Given the description of an element on the screen output the (x, y) to click on. 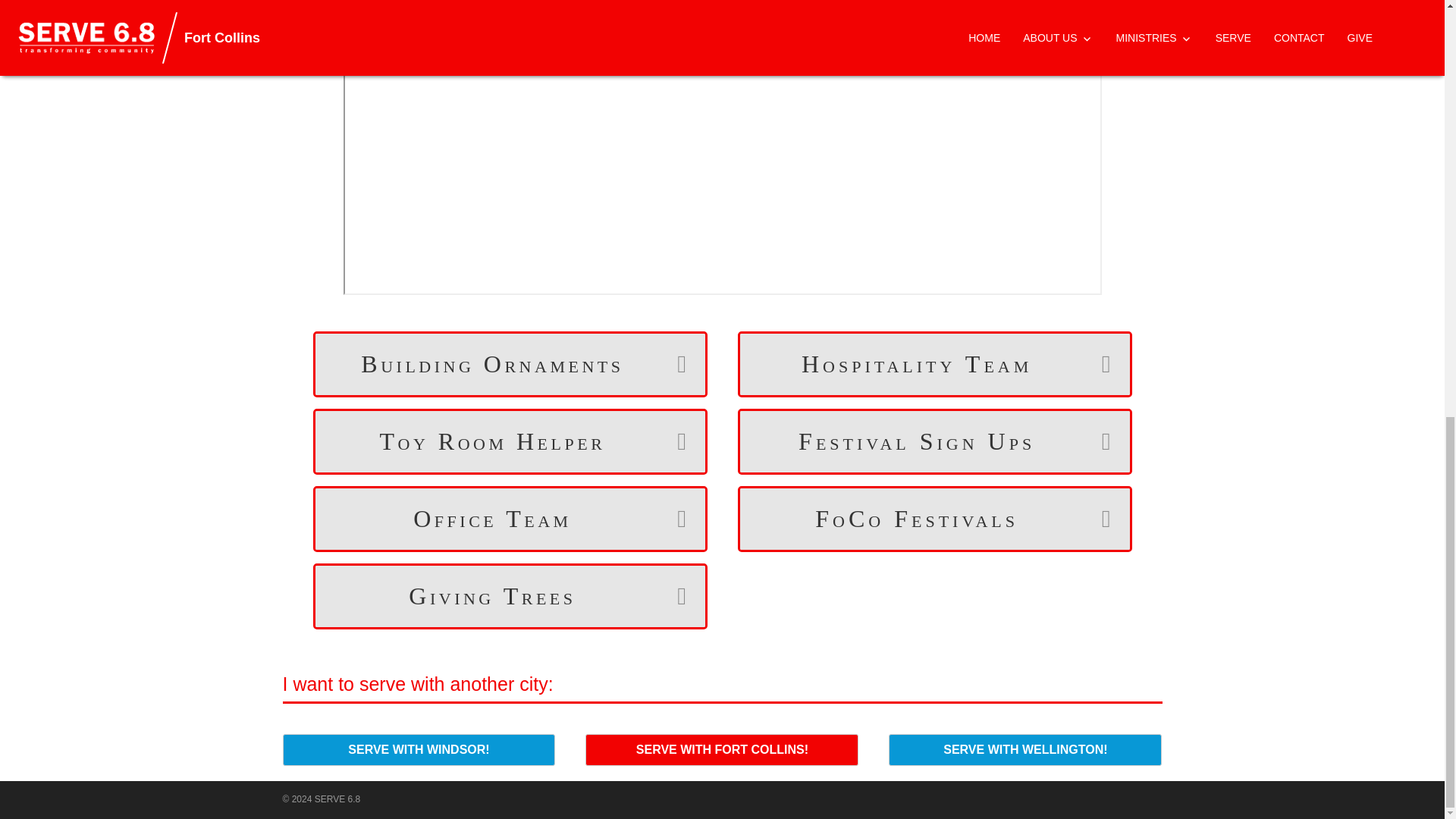
Expand (670, 364)
Expand (1096, 441)
SERVE WITH WELLINGTON! (1024, 749)
Expand (1096, 364)
Building Ornaments (492, 364)
Toy Room Helper (492, 441)
Giving Trees (492, 596)
FoCo Festivals (916, 518)
Expand (1096, 518)
Expand (670, 596)
